Given the description of an element on the screen output the (x, y) to click on. 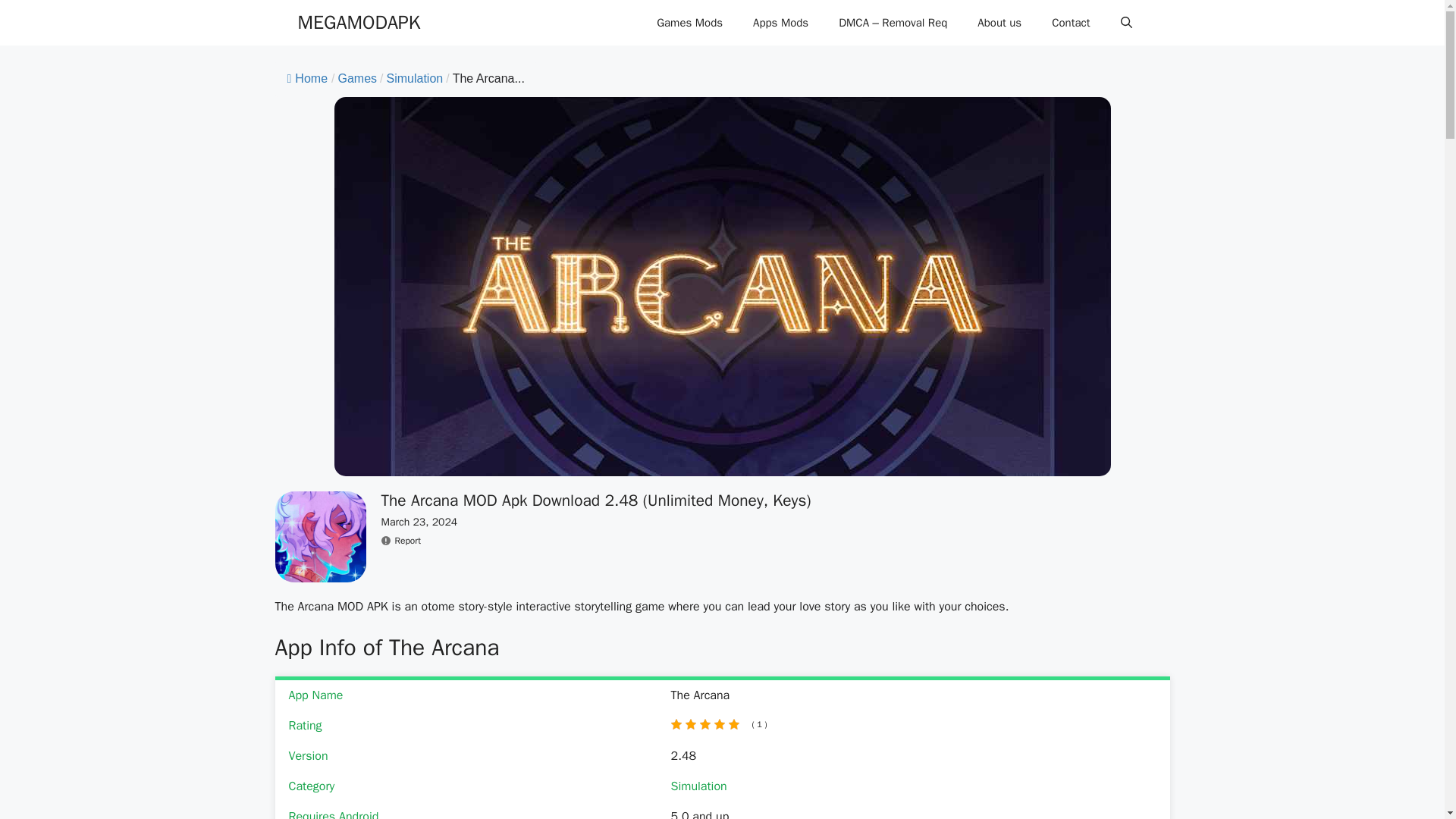
Simulation (415, 78)
MEGAMODAPK (358, 22)
About us (999, 22)
Simulation (415, 78)
Games (357, 78)
Home (306, 78)
Category Name (357, 78)
Games Mods (690, 22)
Apps Mods (781, 22)
Contact (1070, 22)
